Given the description of an element on the screen output the (x, y) to click on. 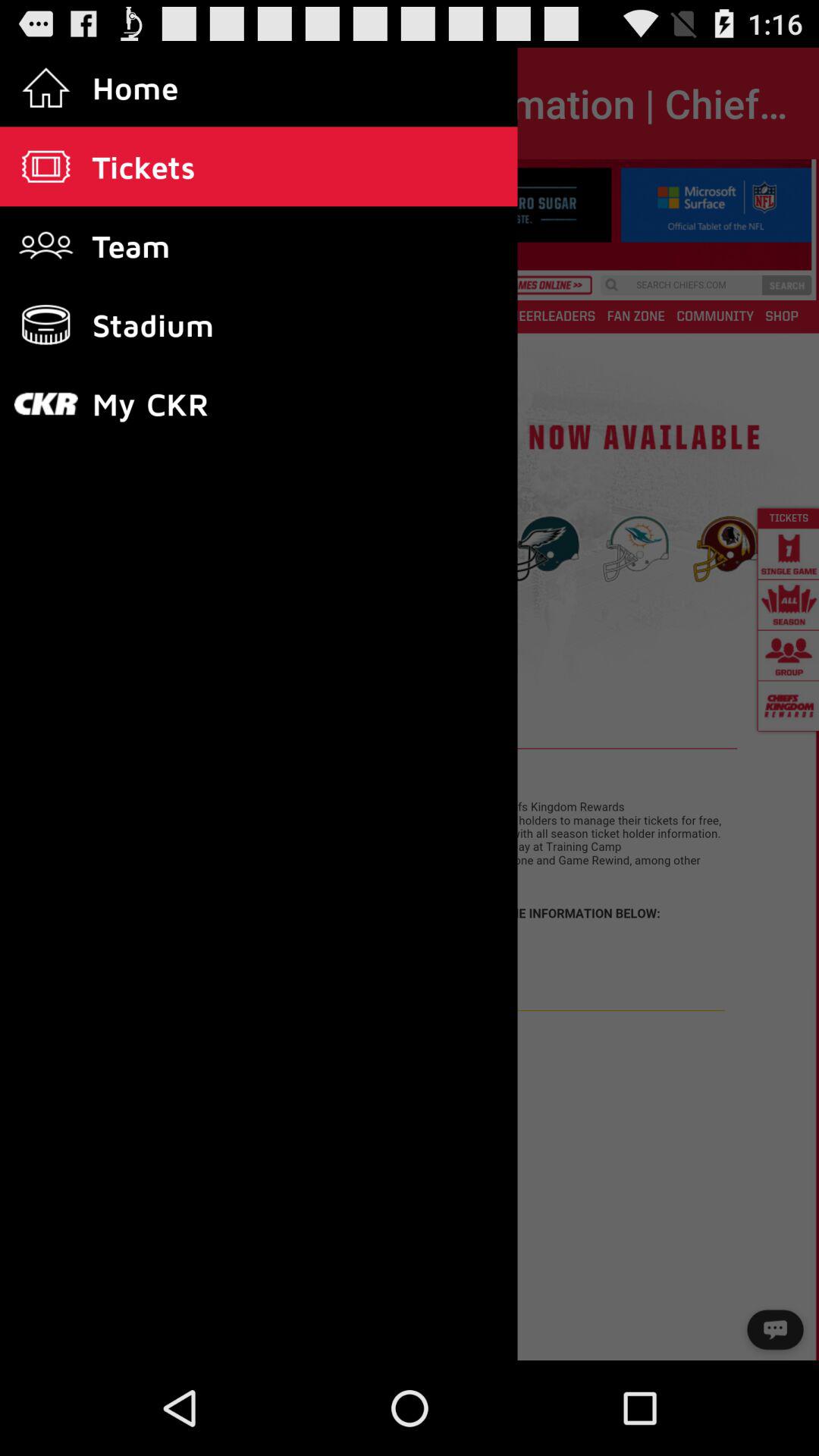
go to menu (409, 759)
